Given the description of an element on the screen output the (x, y) to click on. 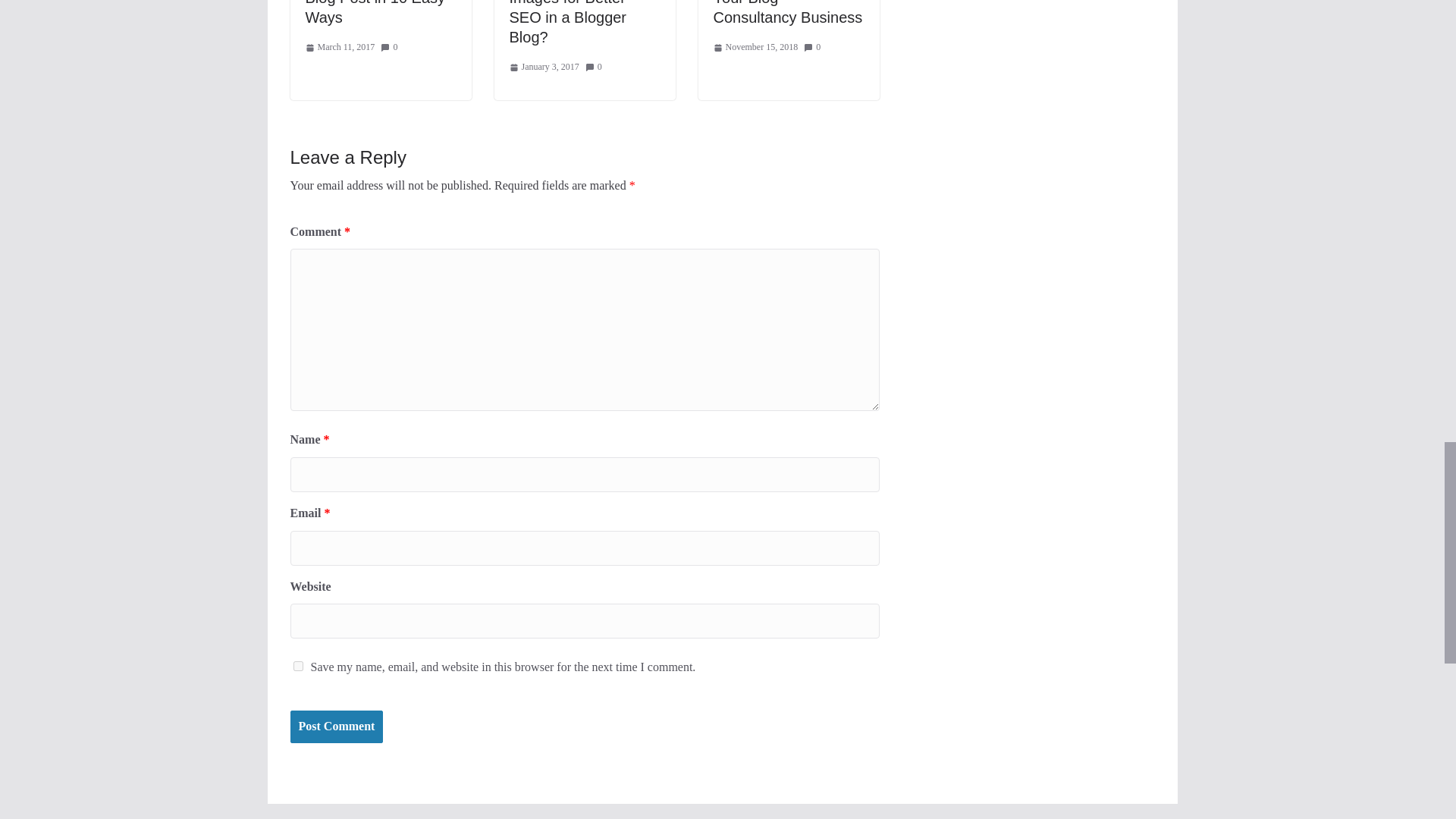
How to Promote Your Blog Post in 10 Easy Ways (376, 12)
yes (297, 665)
Post Comment (335, 726)
How to Promote Your Blog Post in 10 Easy Ways (376, 12)
10:03 am (339, 47)
January 3, 2017 (544, 67)
March 11, 2017 (339, 47)
How to Optimize Images for Better SEO in a Blogger Blog? (568, 22)
